Given the description of an element on the screen output the (x, y) to click on. 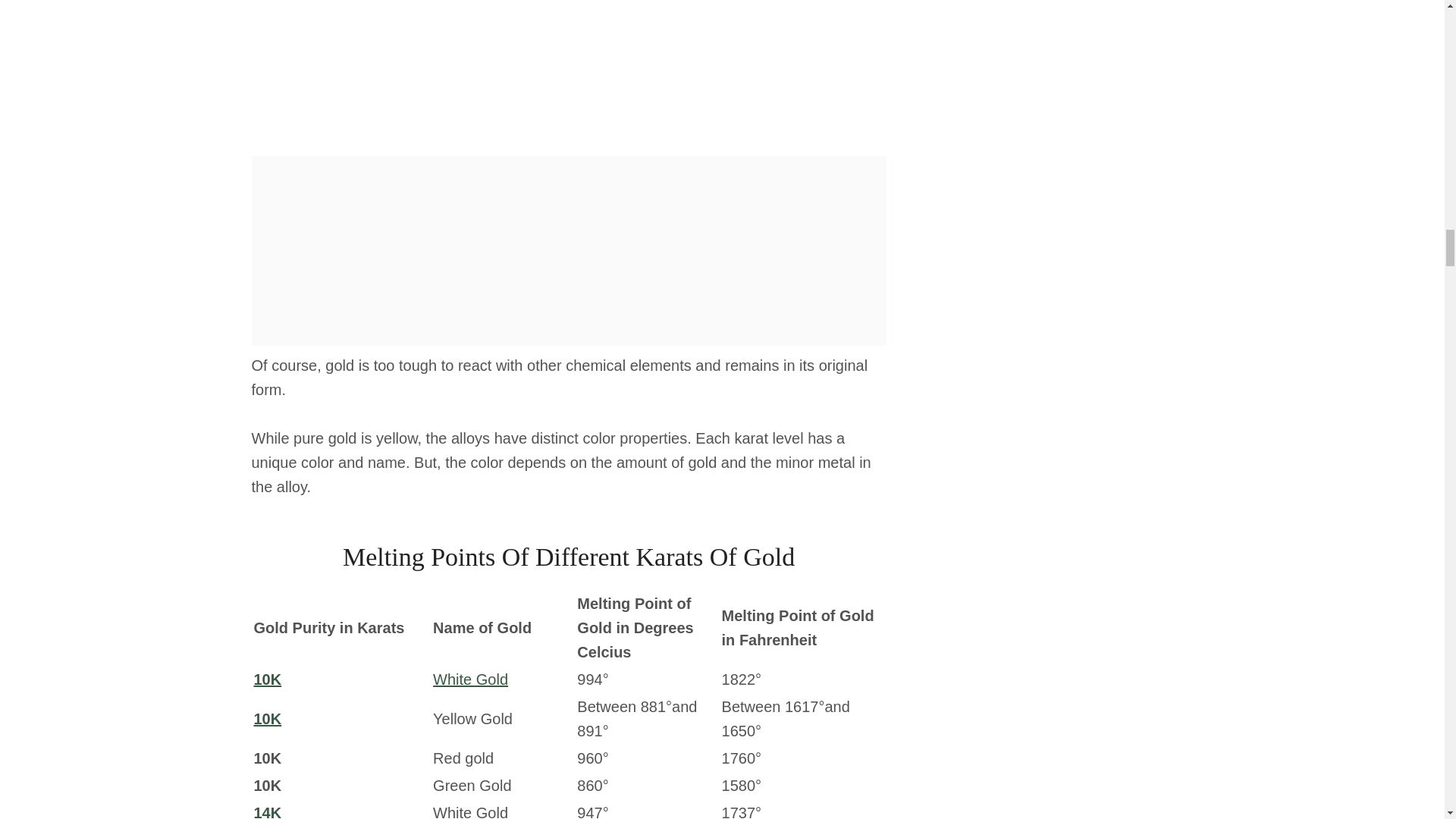
10K (267, 718)
White Gold (470, 678)
14K (267, 811)
10K (267, 678)
